Given the description of an element on the screen output the (x, y) to click on. 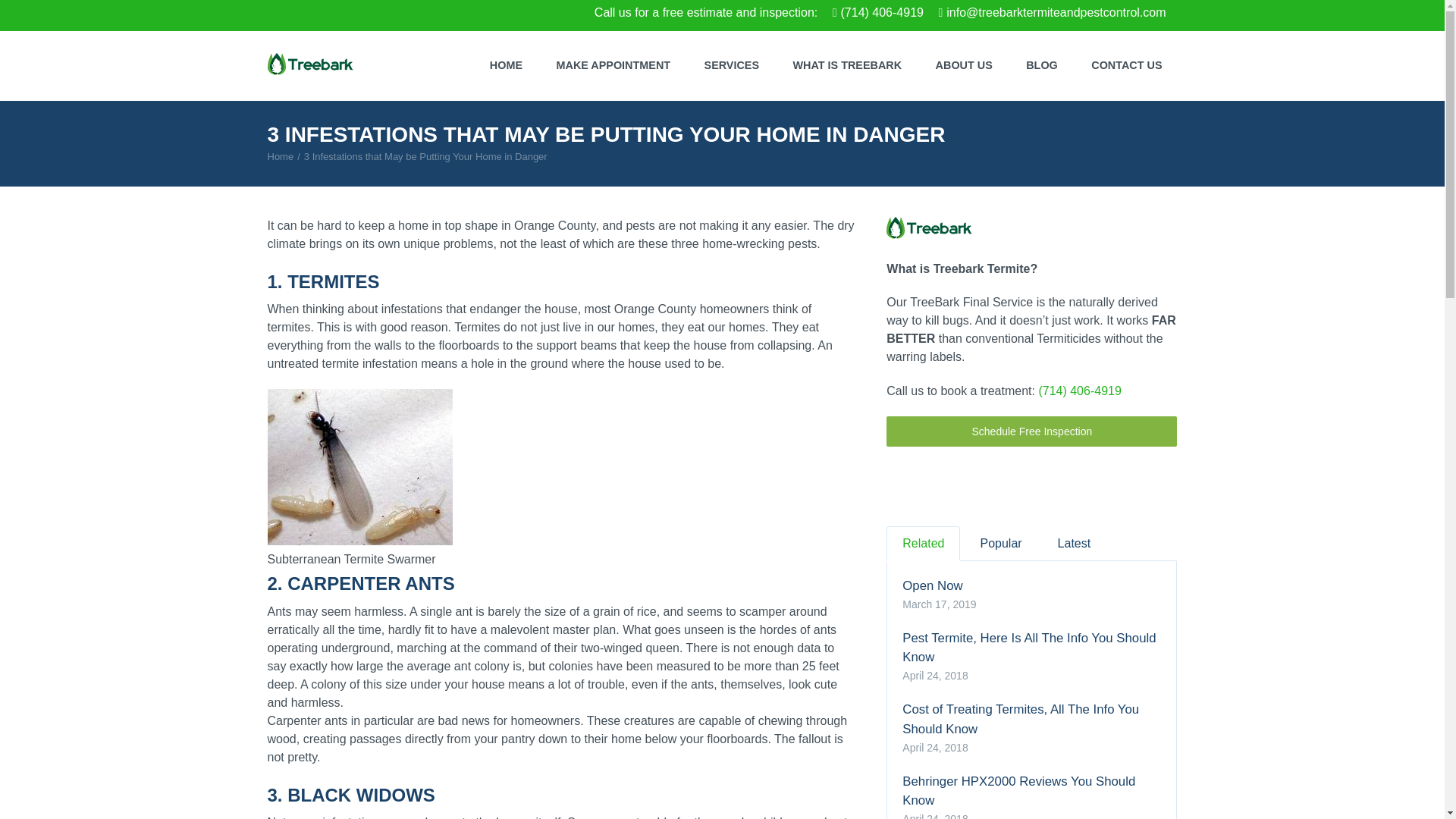
HOME (505, 65)
Behringer HPX2000 Reviews You Should Know (1031, 790)
ABOUT US (963, 65)
Open Now (1031, 585)
Latest (1074, 543)
MAKE APPOINTMENT (613, 65)
BLOG (1041, 65)
Treebark Termite and Pest Control Services (280, 156)
Related (922, 543)
Pest Termite, Here Is All The Info You Should Know (1031, 647)
CONTACT US (1125, 65)
SERVICES (731, 65)
Popular (999, 543)
WHAT IS TREEBARK (847, 65)
Home (280, 156)
